Given the description of an element on the screen output the (x, y) to click on. 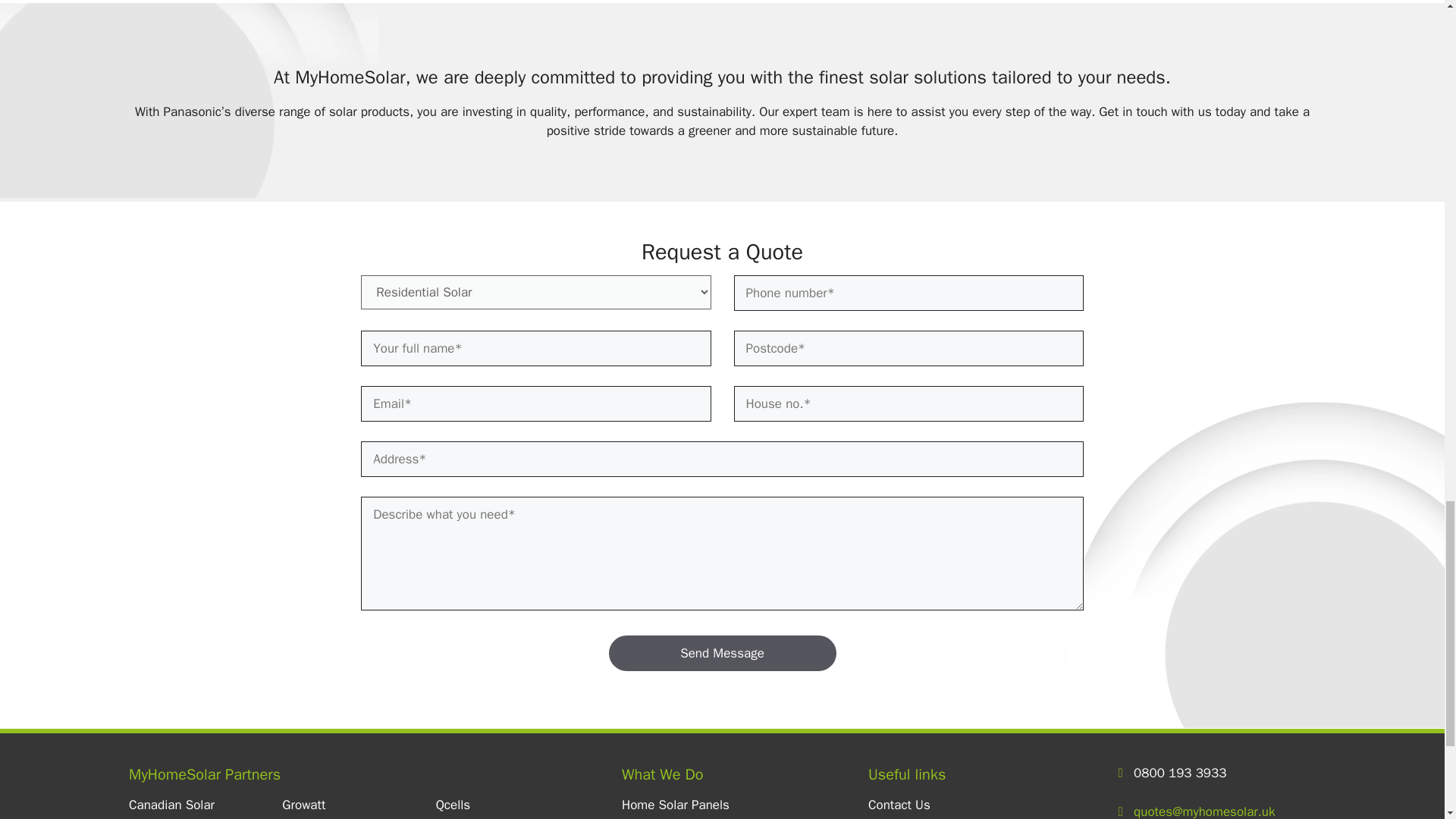
Send Message (721, 653)
